Given the description of an element on the screen output the (x, y) to click on. 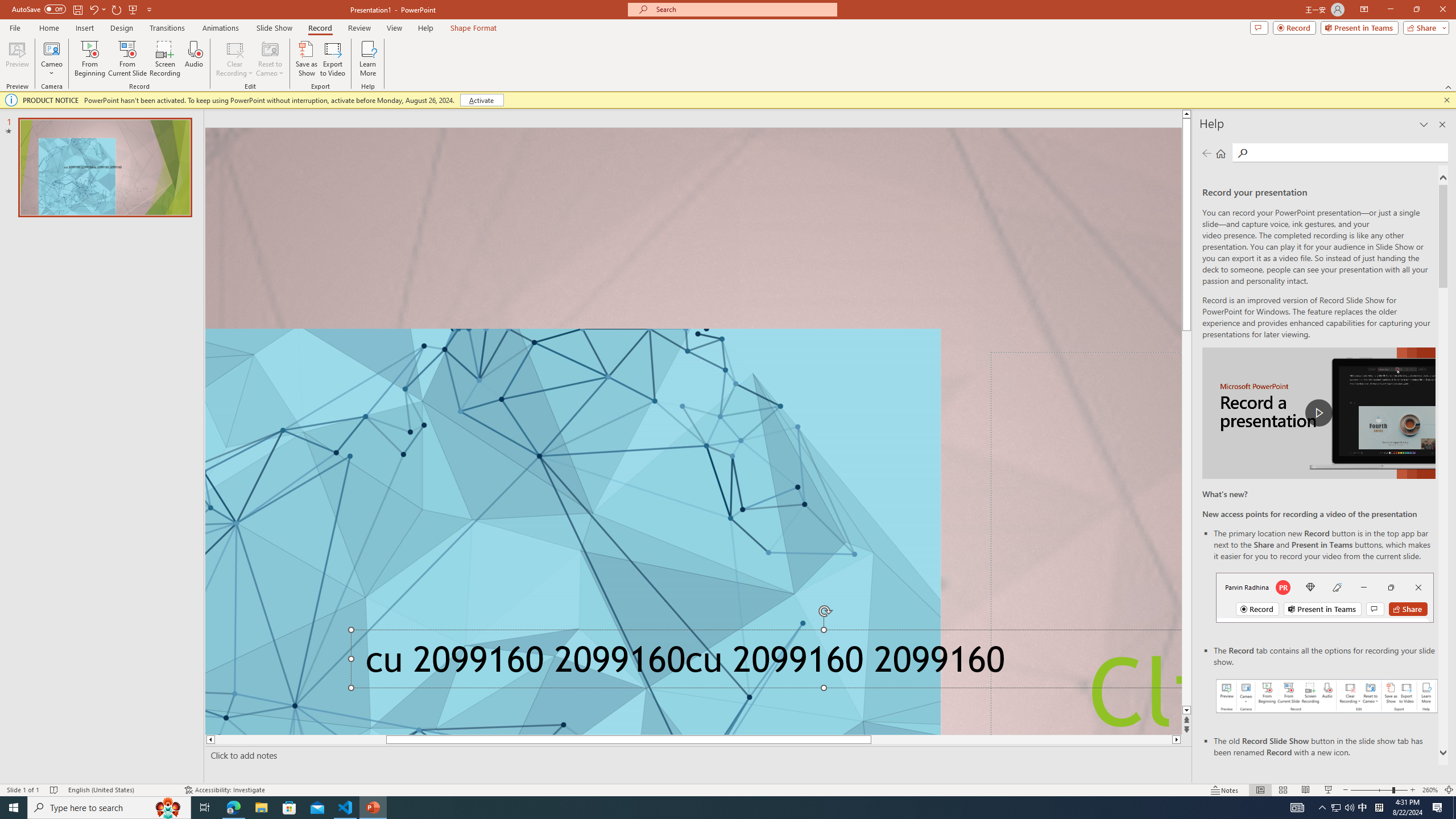
Audio (193, 58)
TextBox 61 (762, 663)
Previous page (1206, 152)
From Current Slide... (127, 58)
Clear Recording (234, 58)
Record your presentations screenshot one (1326, 695)
From Beginning... (89, 58)
Slide Notes (696, 755)
